Given the description of an element on the screen output the (x, y) to click on. 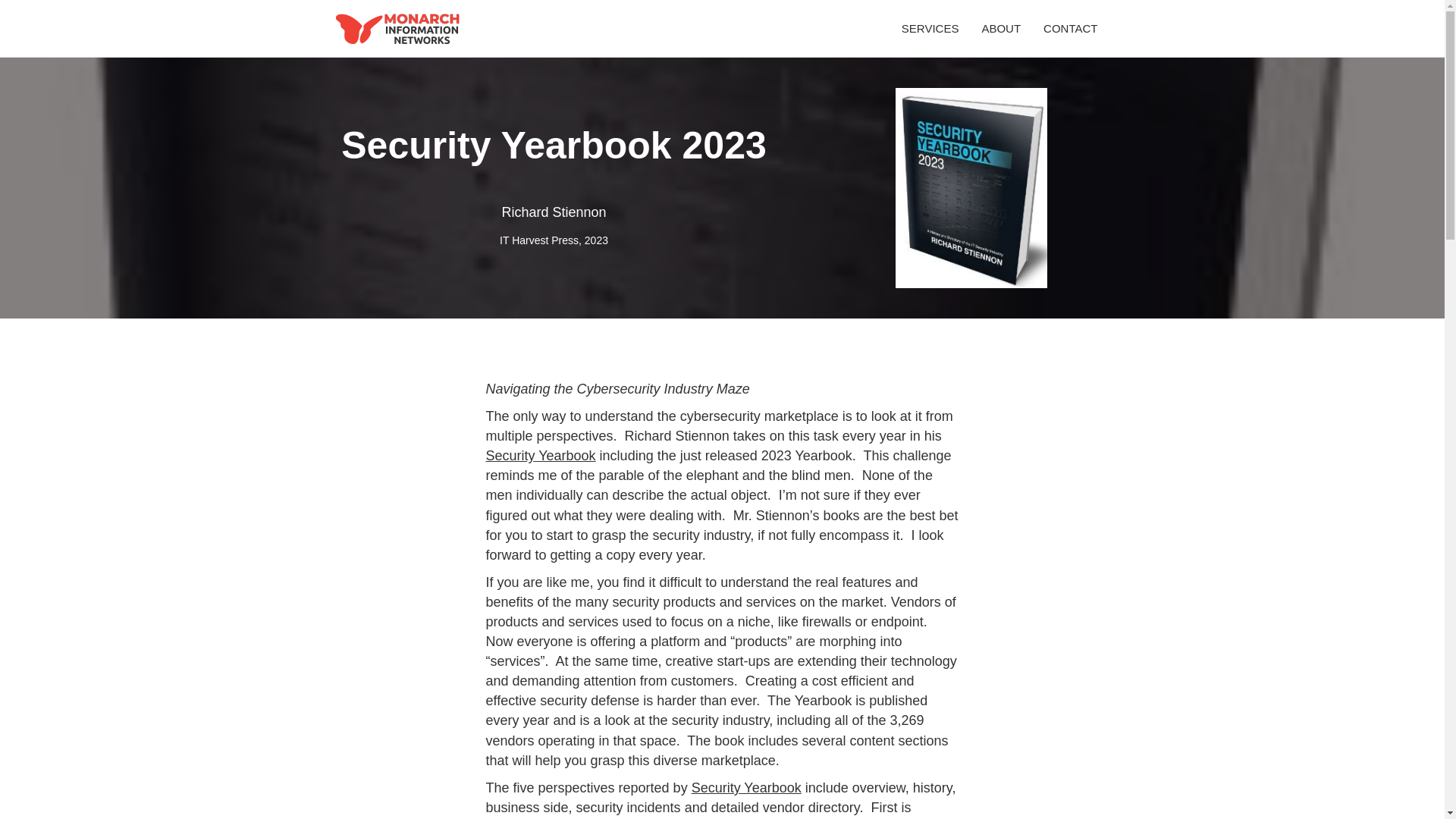
SERVICES (930, 28)
CONTACT (1070, 28)
ABOUT (1000, 28)
